Given the description of an element on the screen output the (x, y) to click on. 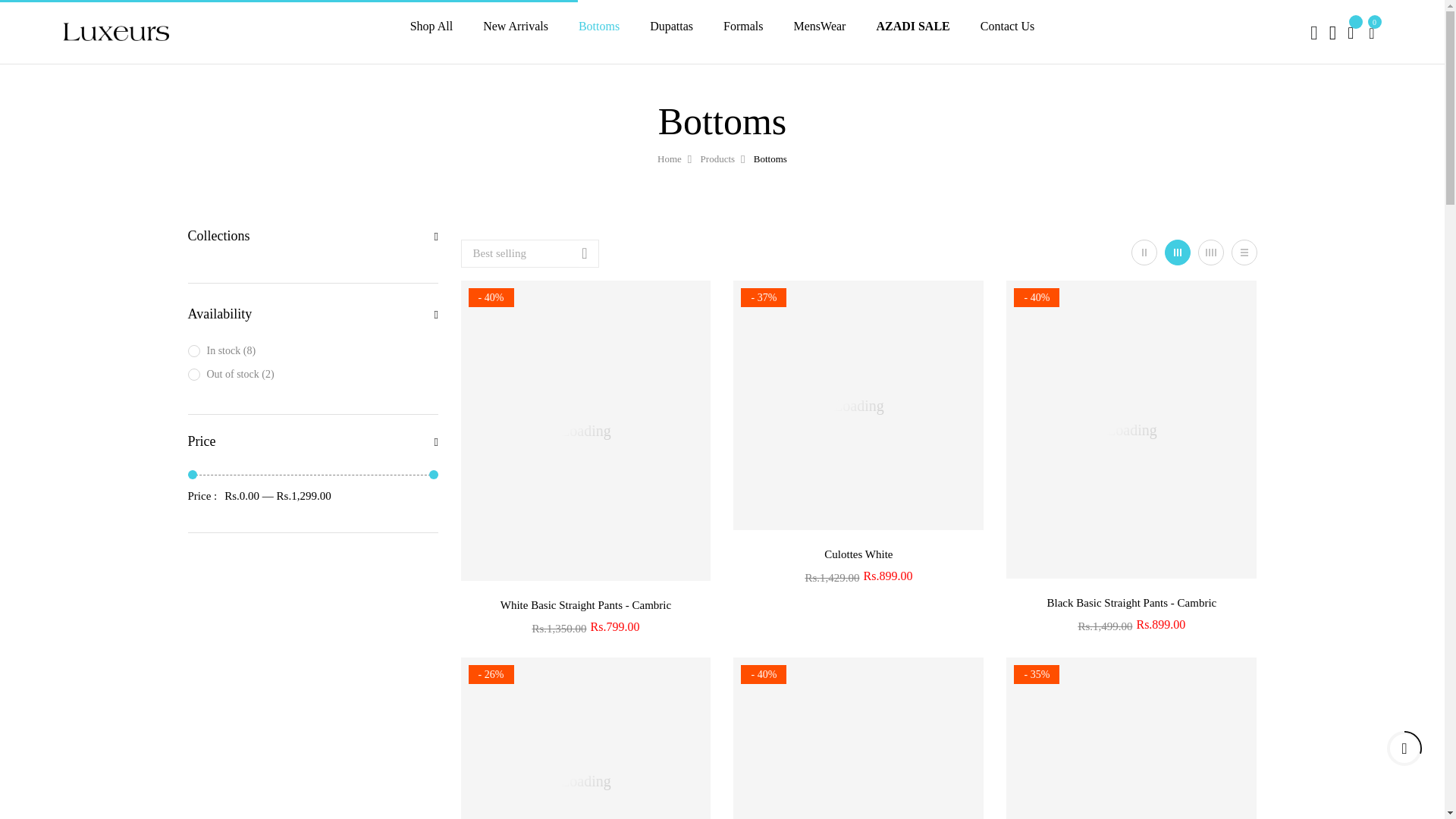
Contact Us (1007, 25)
MensWear (819, 25)
New Arrivals (515, 25)
Home (669, 158)
Grid view (1244, 252)
Bottoms (599, 25)
Formals (742, 25)
AZADI SALE (912, 31)
